Given the description of an element on the screen output the (x, y) to click on. 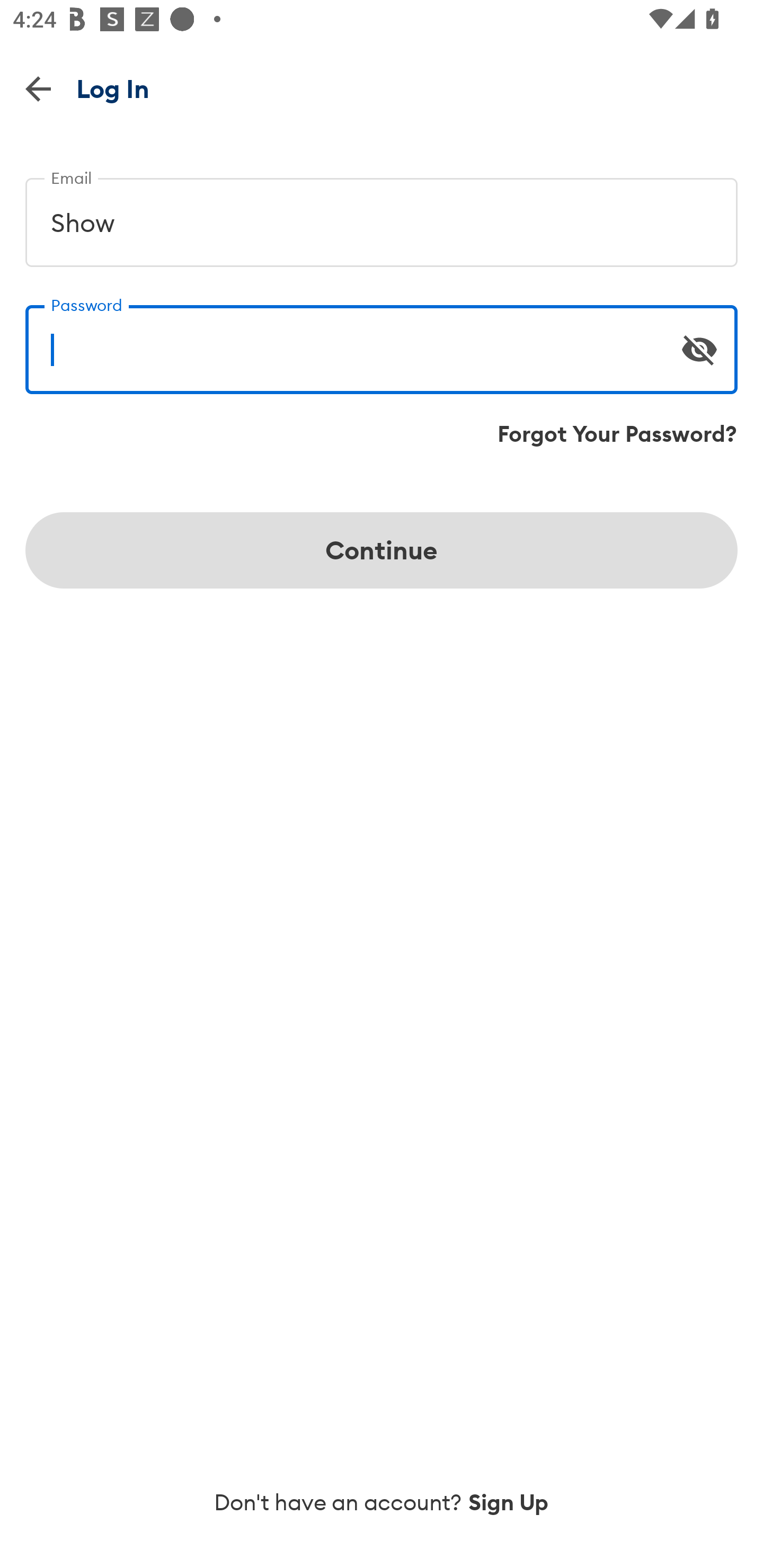
Back (38, 88)
Show Email (381, 215)
Password (381, 342)
Forgot Your Password? (617, 433)
Continue (381, 550)
Sign Up (508, 1502)
